Given the description of an element on the screen output the (x, y) to click on. 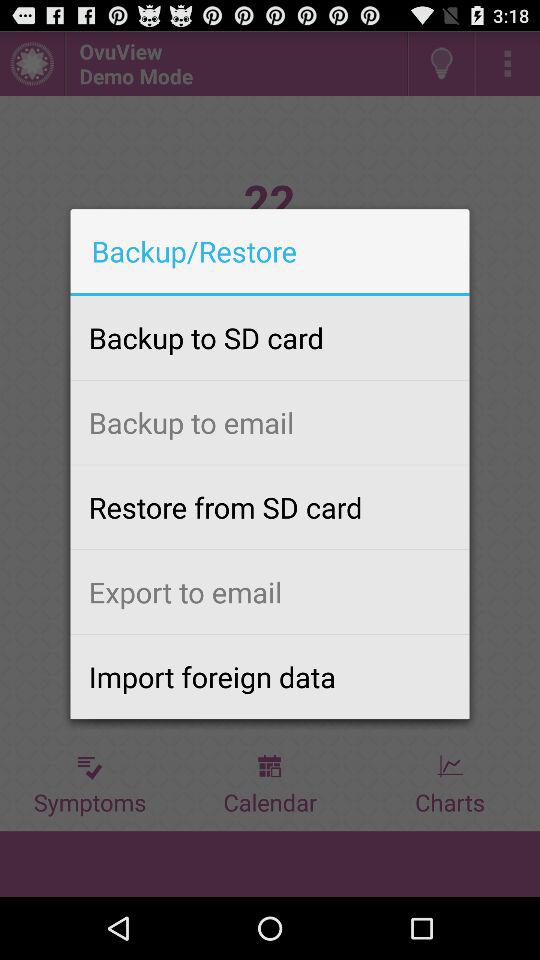
press the item above export to email app (269, 507)
